Given the description of an element on the screen output the (x, y) to click on. 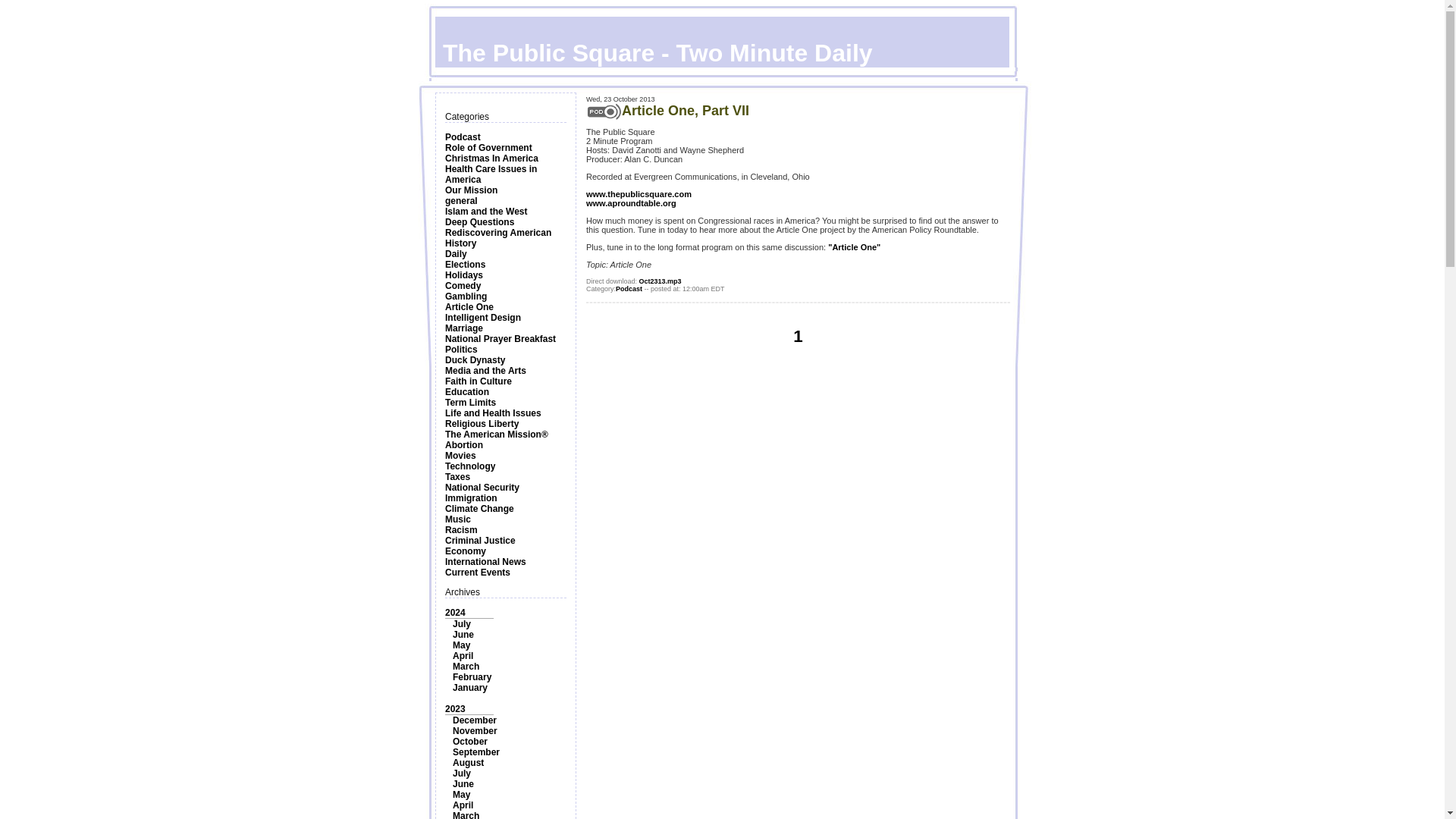
Economy (465, 551)
Racism (461, 529)
National Prayer Breakfast (500, 338)
Deep Questions (479, 222)
Faith in Culture (478, 380)
Elections (464, 264)
Gambling (465, 296)
Term Limits (470, 402)
Media and the Arts (485, 370)
Daily (456, 253)
Health Care Issues in America (491, 174)
Role of Government (488, 147)
Holidays (464, 275)
Technology (470, 466)
Comedy (462, 285)
